Given the description of an element on the screen output the (x, y) to click on. 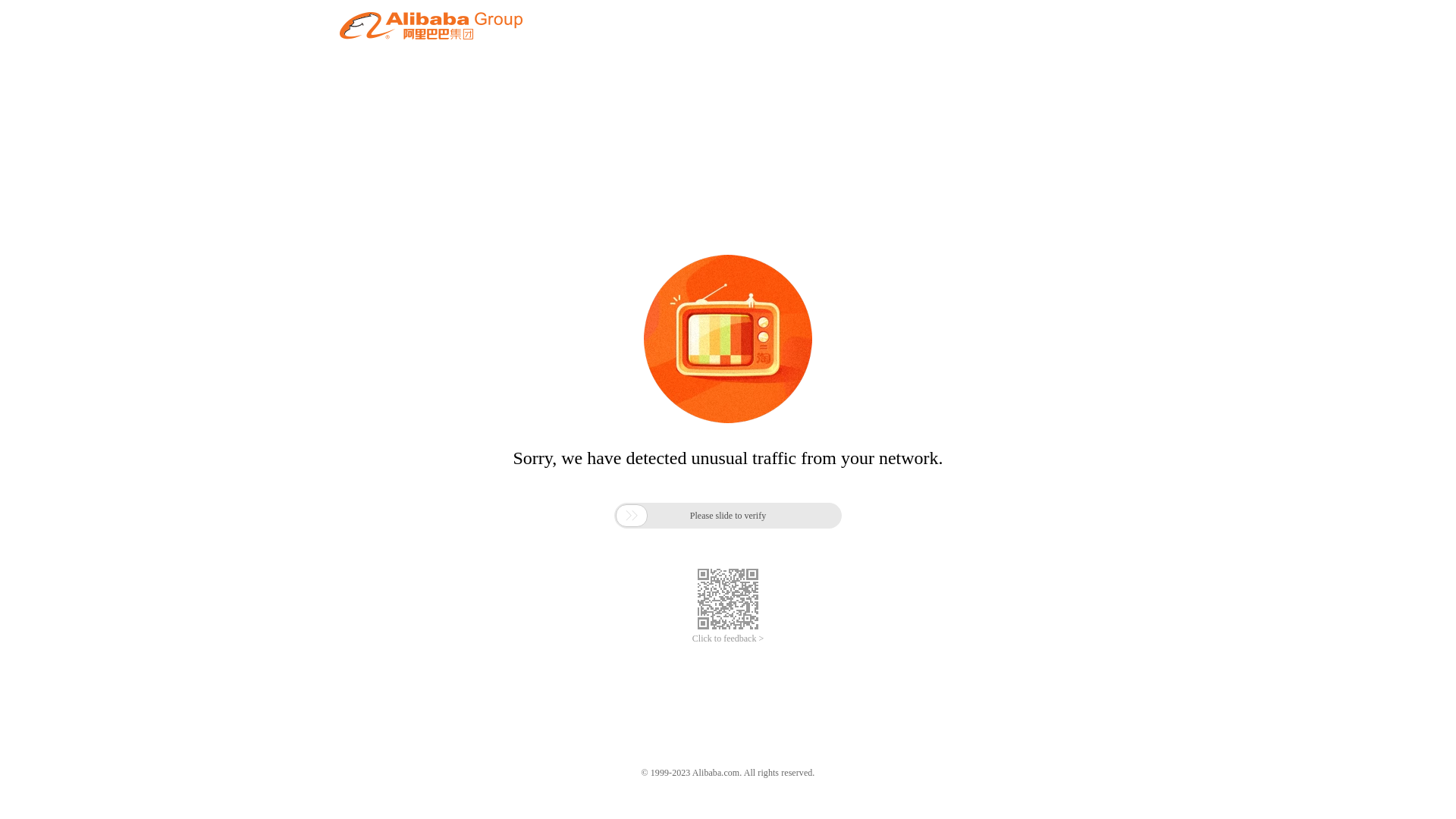
Click to feedback > Element type: text (727, 638)
